Given the description of an element on the screen output the (x, y) to click on. 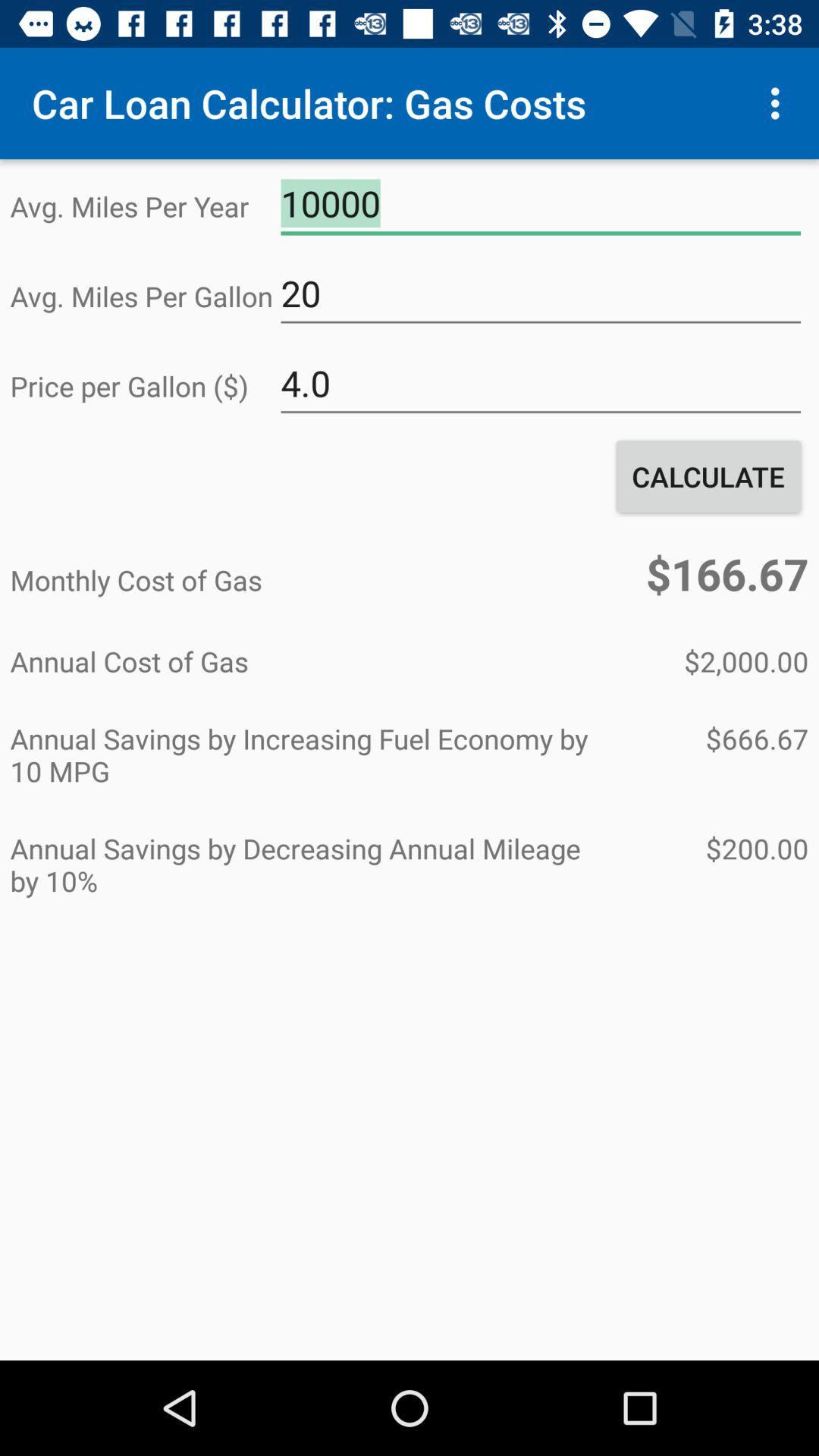
press icon above $166.67 (707, 476)
